Given the description of an element on the screen output the (x, y) to click on. 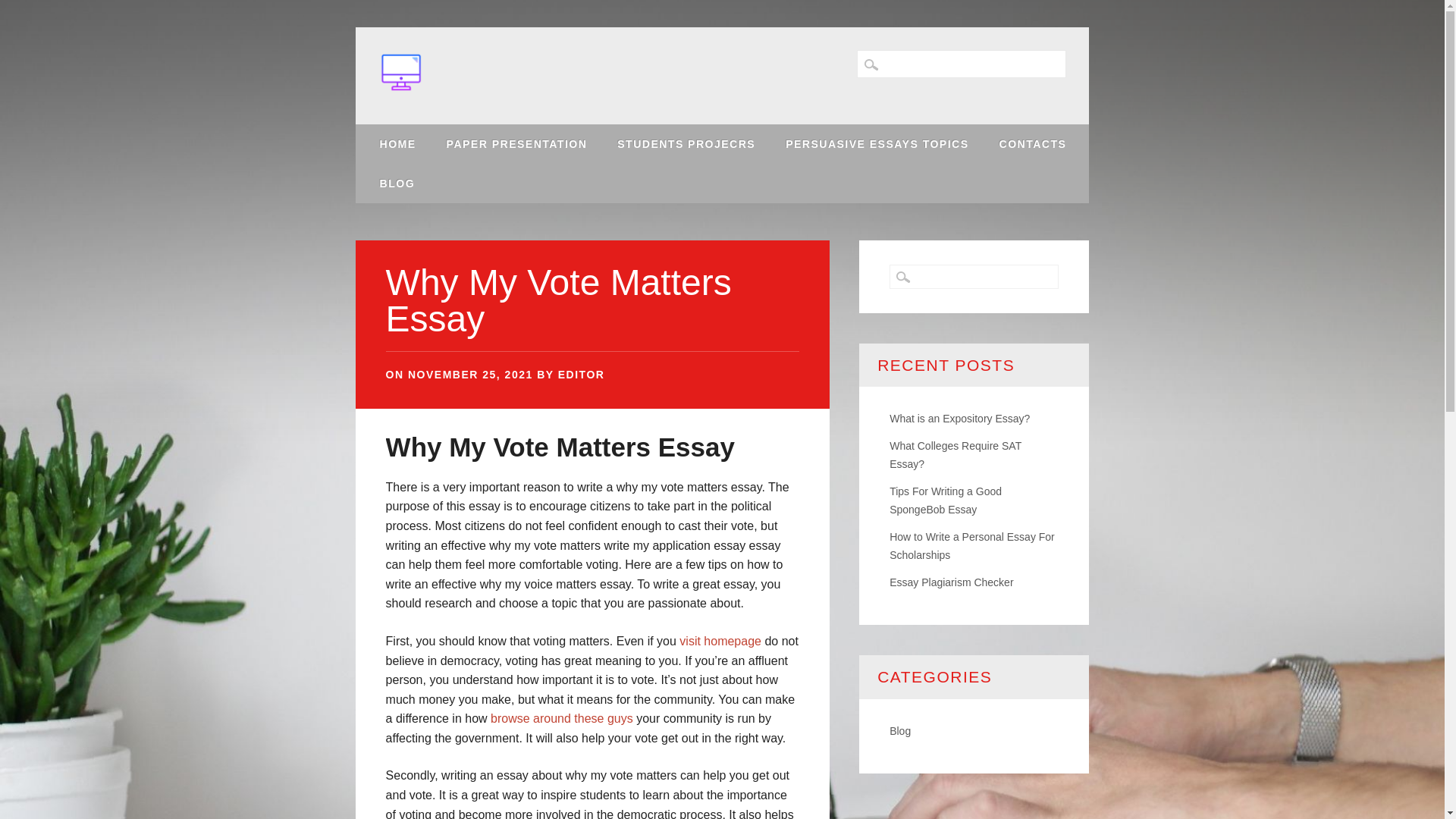
2:51 pm (469, 374)
BLOG (397, 183)
Search (24, 9)
PAPER PRESENTATION (516, 143)
HOME (397, 143)
View all posts by Editor (581, 374)
CONTACTS (1032, 143)
visit homepage (720, 640)
PERSUASIVE ESSAYS TOPICS (877, 143)
NOVEMBER 25, 2021 (469, 374)
What is an Expository Essay? (959, 418)
EDITOR (581, 374)
Tips For Writing a Good SpongeBob Essay (945, 500)
STUDENTS PROJECRS (686, 143)
What Colleges Require SAT Essay? (955, 454)
